Given the description of an element on the screen output the (x, y) to click on. 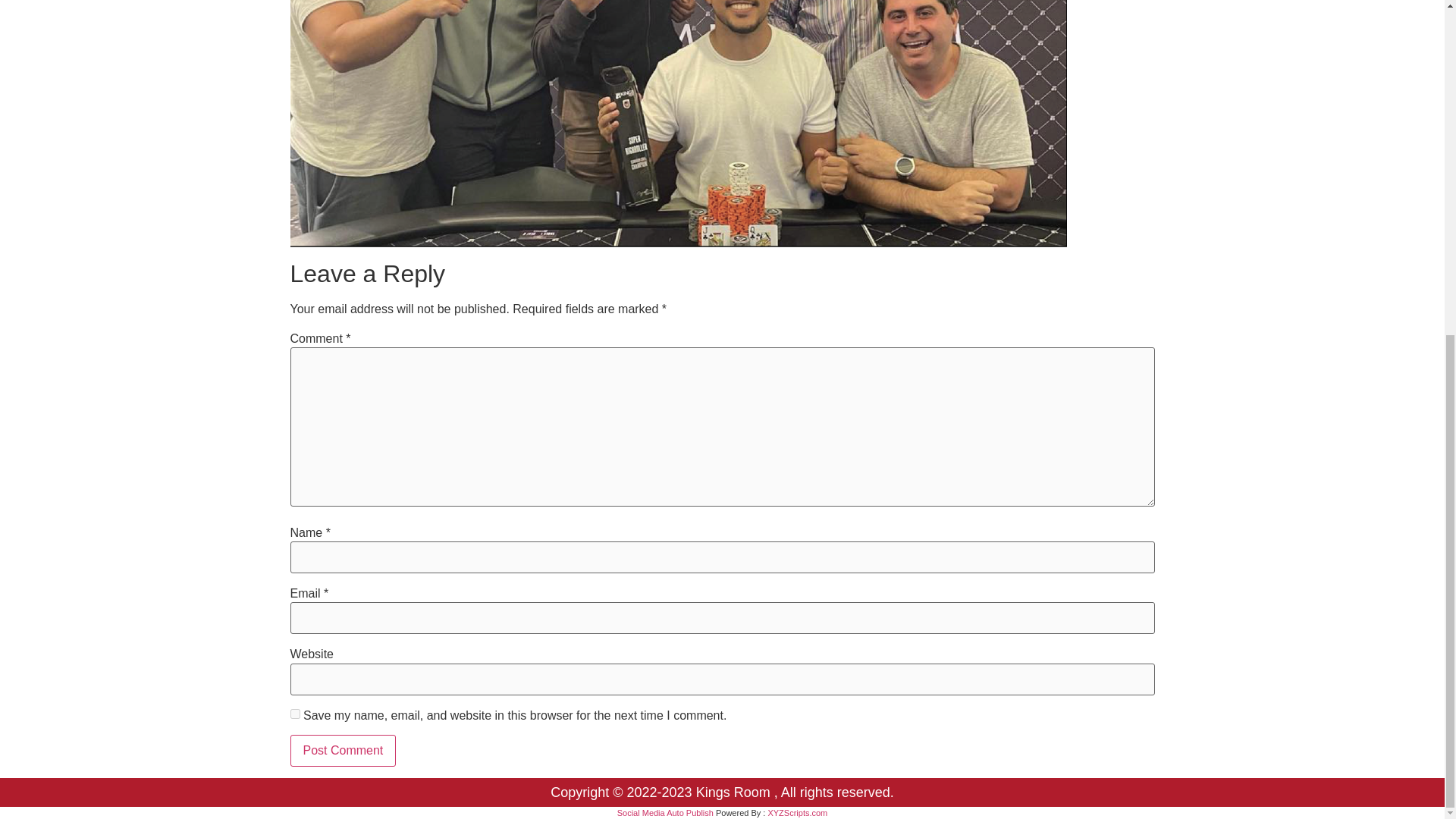
Post Comment (342, 750)
Kings Room (734, 792)
XYZScripts.com (797, 812)
Post Comment (342, 750)
Social Media Auto Publish (665, 812)
yes (294, 714)
Social Media Auto Publish (665, 812)
